Given the description of an element on the screen output the (x, y) to click on. 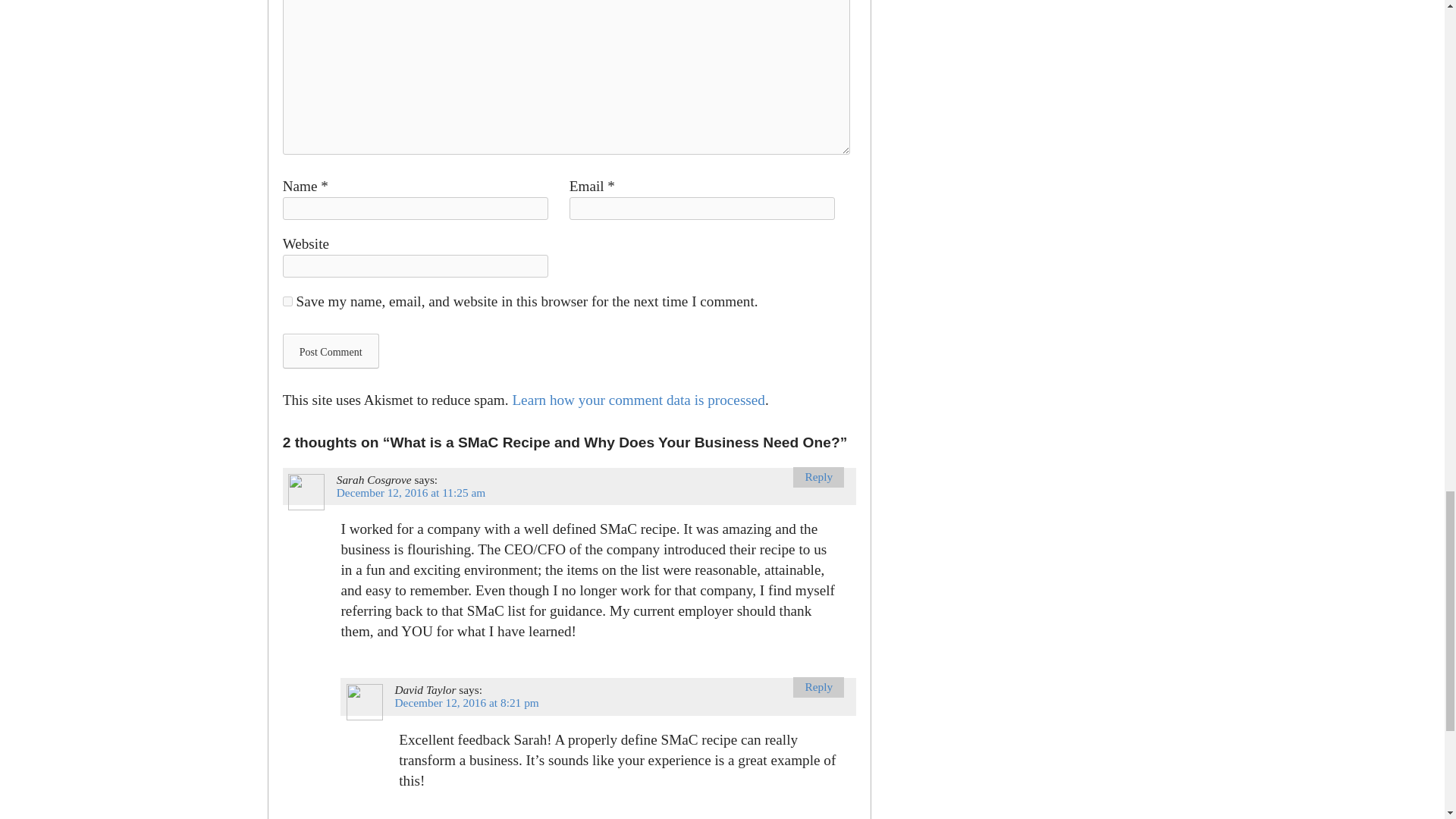
Post Comment (330, 350)
yes (287, 301)
